Given the description of an element on the screen output the (x, y) to click on. 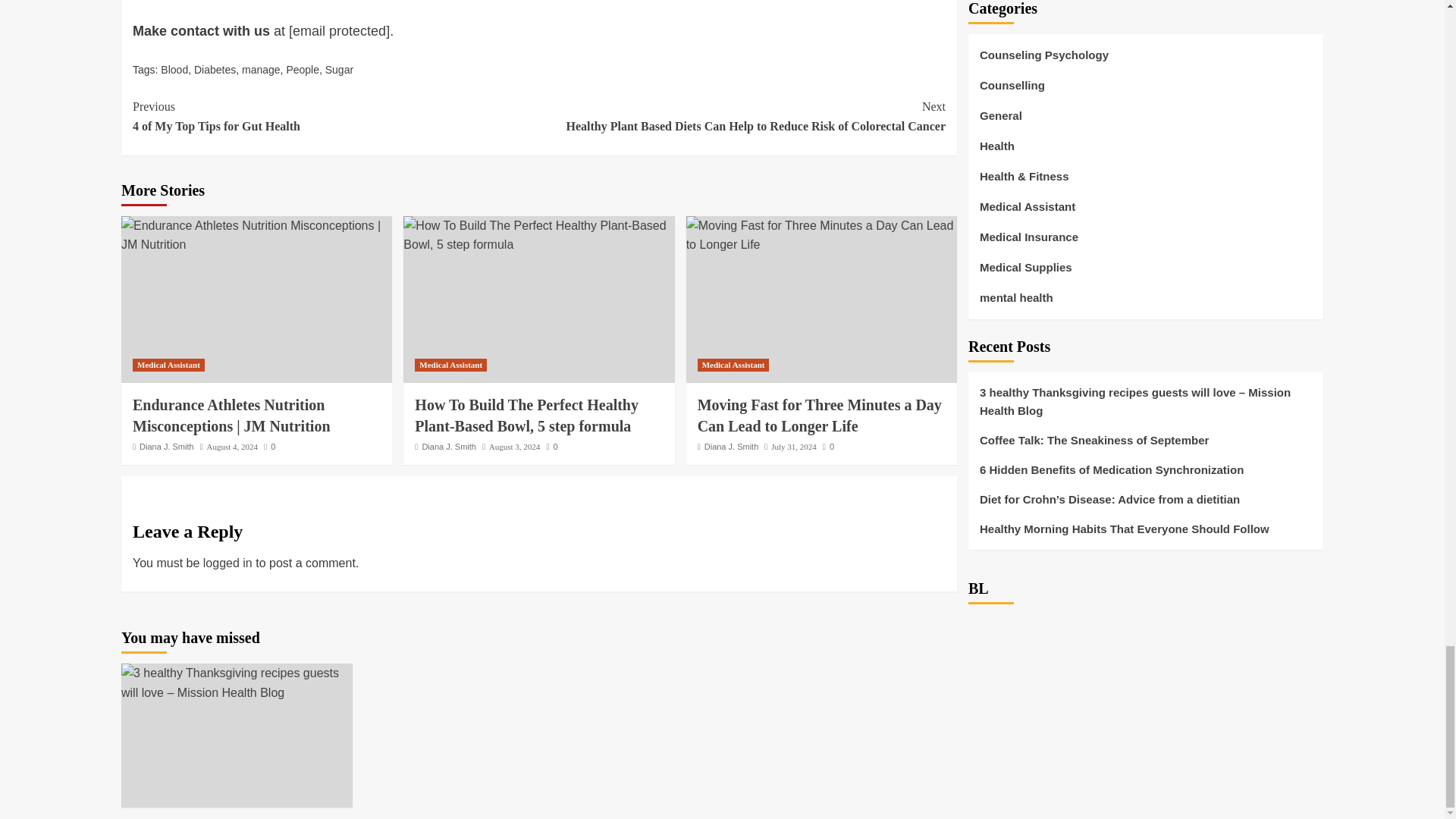
Moving Fast for Three Minutes a Day Can Lead to Longer Life (820, 235)
People (301, 69)
Medical Assistant (168, 364)
manage (261, 69)
Diabetes (214, 69)
Blood (335, 116)
Sugar (173, 69)
